Given the description of an element on the screen output the (x, y) to click on. 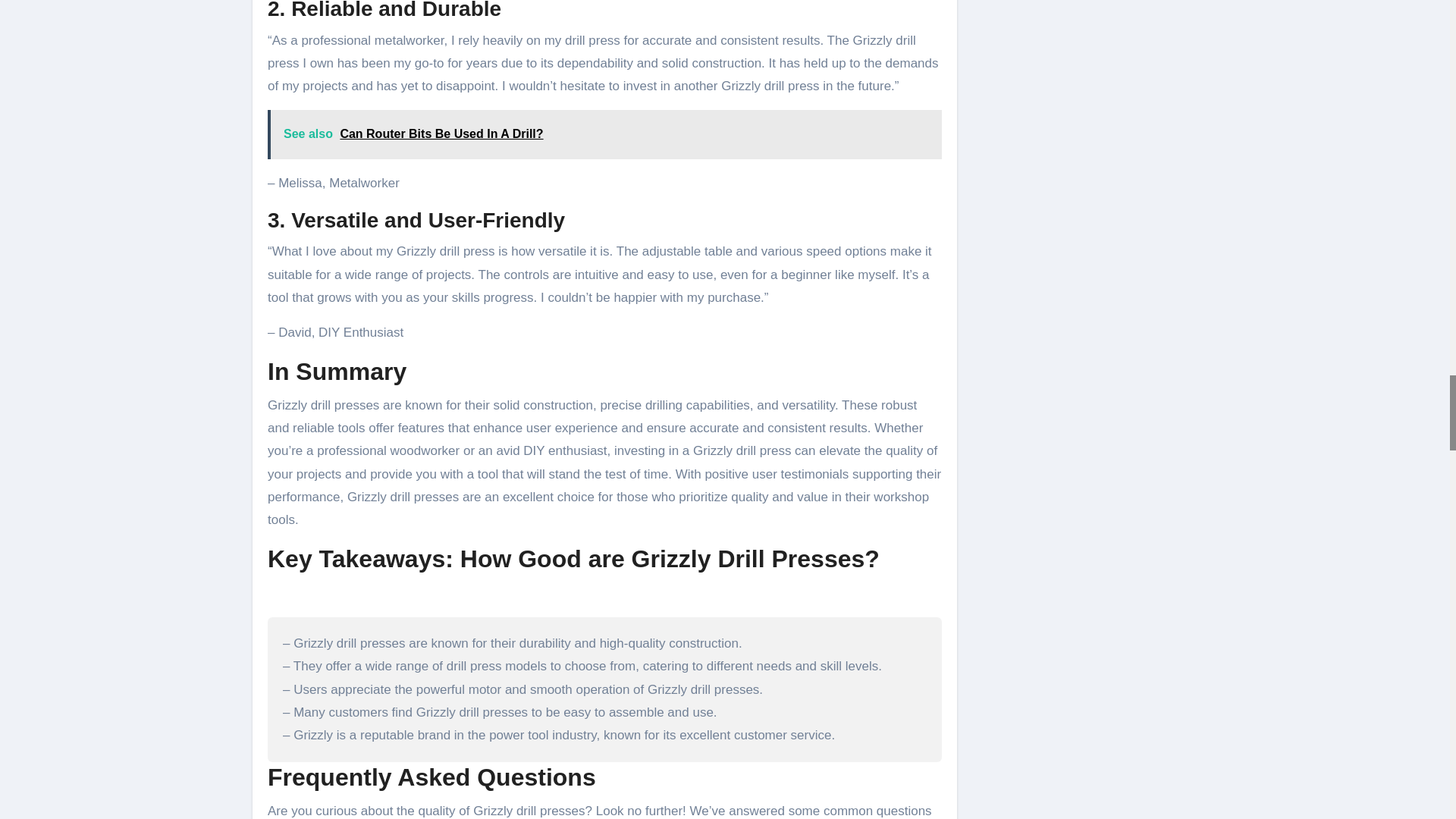
See also  Can Router Bits Be Used In A Drill? (604, 133)
